Given the description of an element on the screen output the (x, y) to click on. 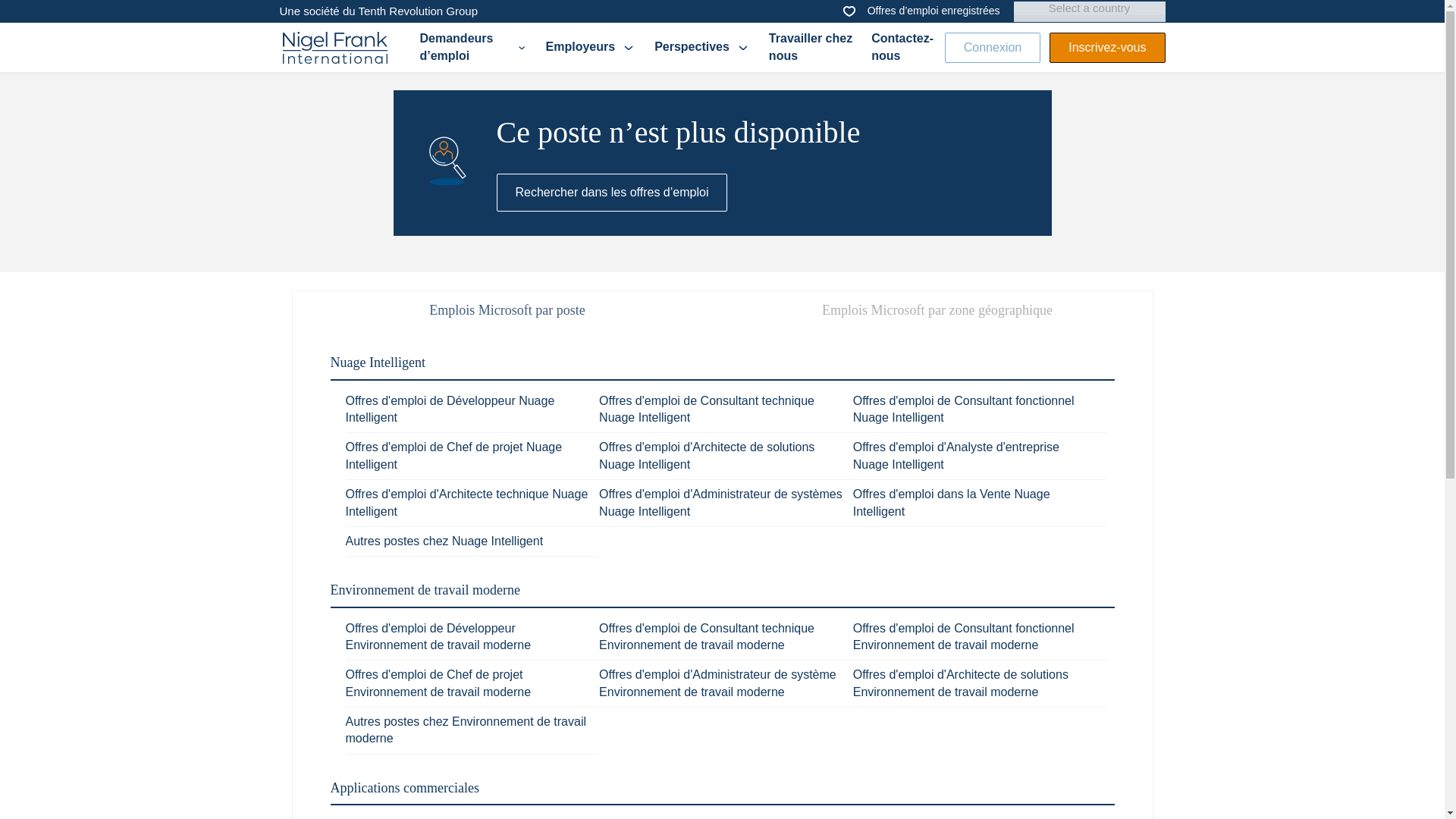
Connexion (992, 46)
Employeurs (591, 47)
Select a country (1088, 8)
Emplois Microsoft par poste (507, 310)
Offres d'emploi de Consultant technique Nuage Intelligent (705, 408)
Nigel Frank International (333, 47)
Offres d'emploi de Consultant fonctionnel Nuage Intelligent (963, 408)
Contactez-nous (903, 47)
Travailler chez nous (810, 47)
Perspectives (702, 47)
Inscrivez-vous (1106, 46)
Offres d'emploi de Chef de projet Nuage Intelligent (454, 455)
Nigel Frank International (333, 47)
